Given the description of an element on the screen output the (x, y) to click on. 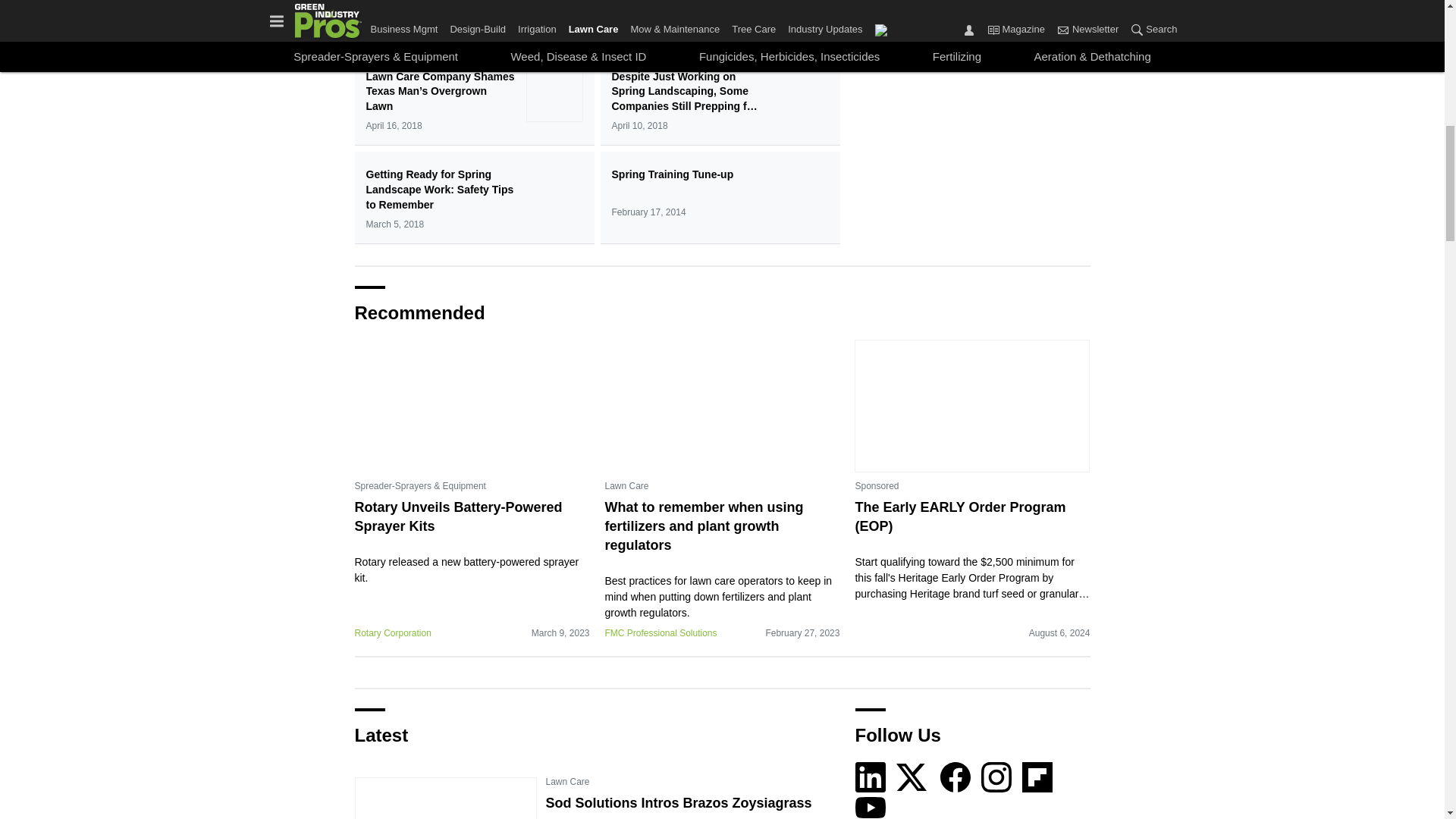
LinkedIn icon (870, 777)
Lawn Care (625, 485)
Instagram icon (996, 777)
Flipboard icon (1037, 777)
YouTube icon (870, 805)
Twitter X icon (911, 777)
Sponsored (876, 485)
Lawn Care (567, 781)
Facebook icon (955, 777)
